Given the description of an element on the screen output the (x, y) to click on. 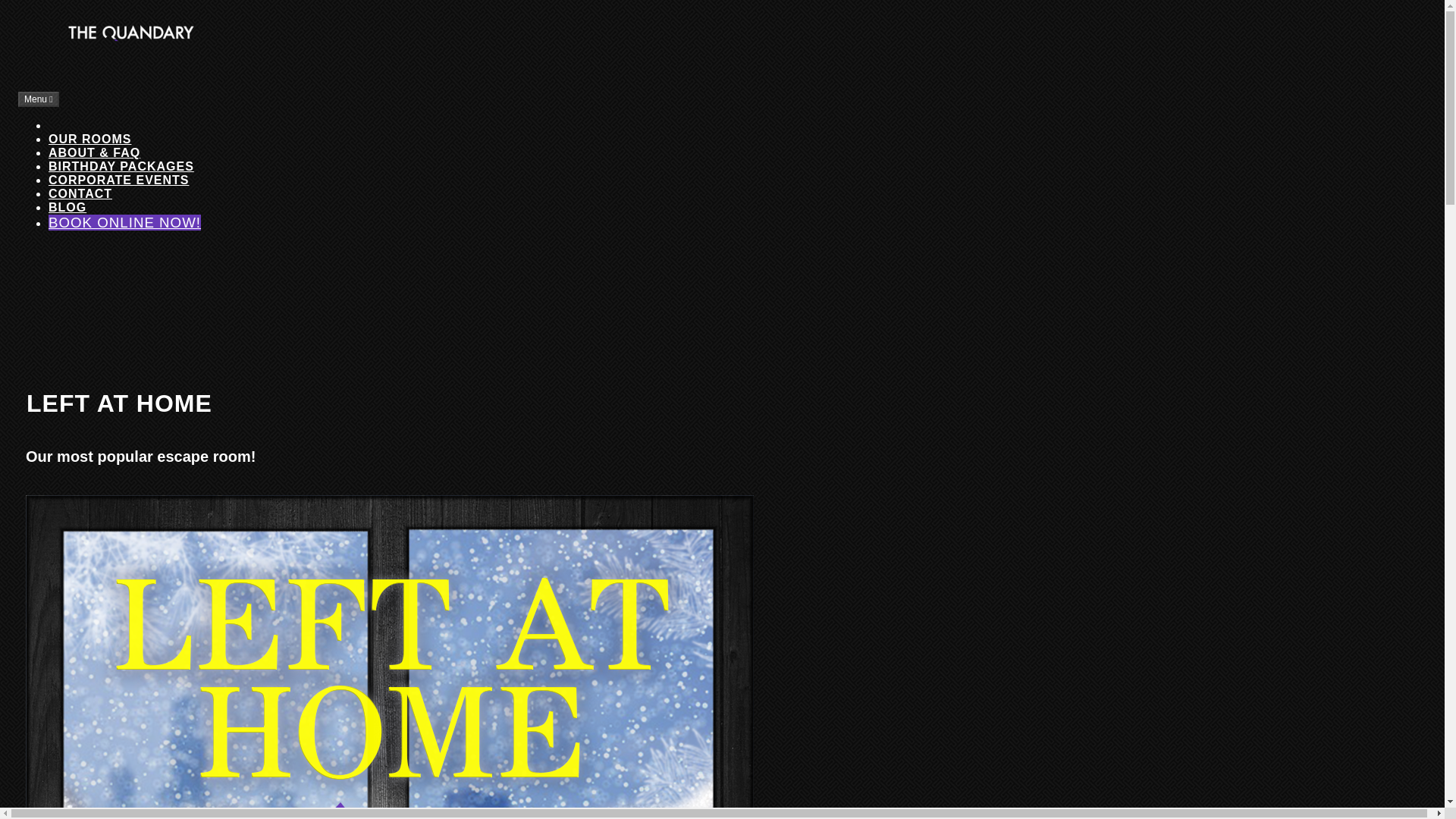
BOOK ONLINE NOW! (124, 222)
CORPORATE EVENTS (118, 179)
OUR ROOMS (89, 138)
BLOG (66, 206)
CONTACT (80, 193)
CONTACT (80, 193)
OUR ROOMS (89, 138)
CORPORATE EVENTS (118, 179)
BIRTHDAY PACKAGES (120, 165)
BLOG (66, 206)
BIRTHDAY PACKAGES (120, 165)
Menu (38, 99)
